Given the description of an element on the screen output the (x, y) to click on. 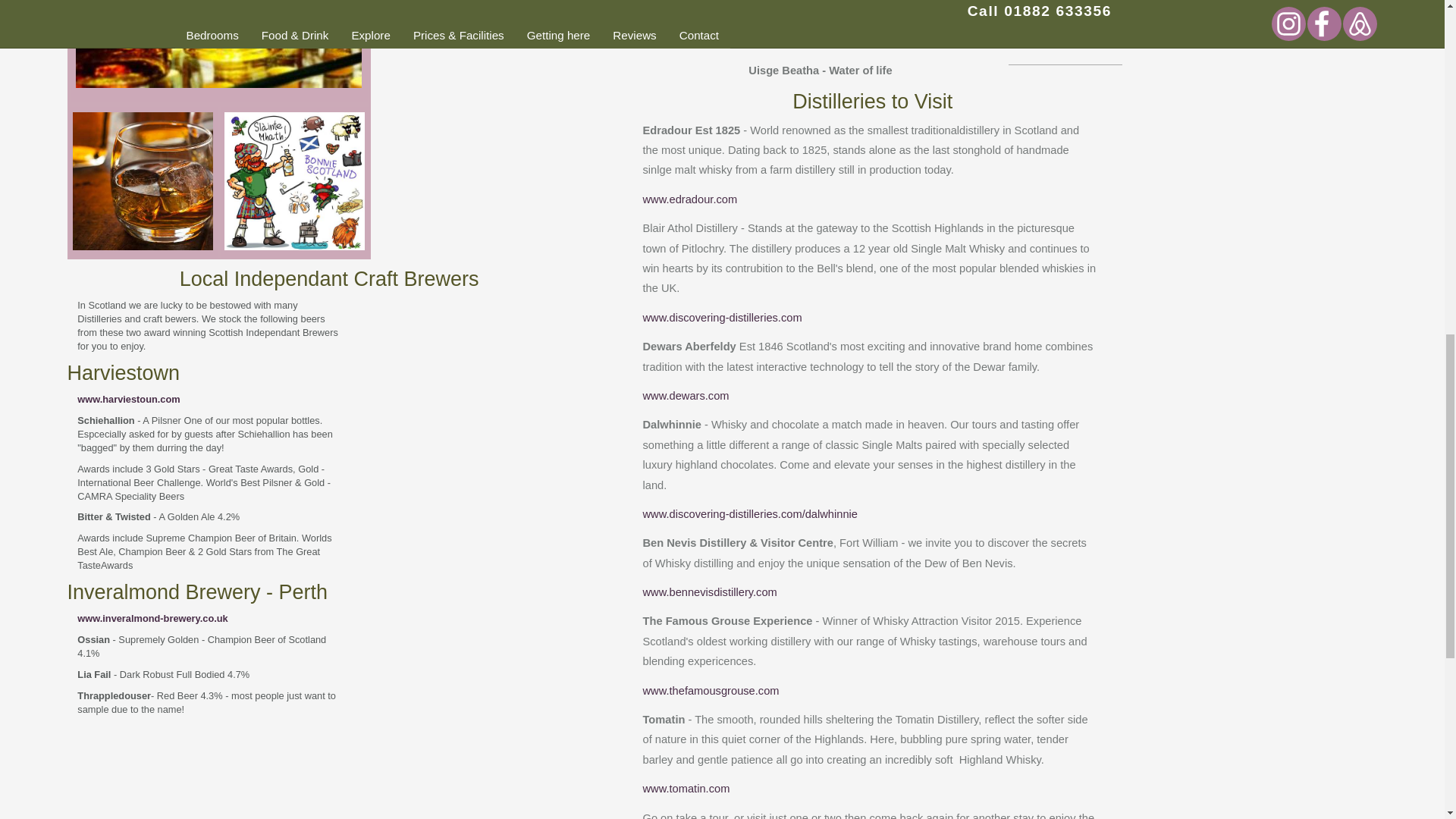
www.discovering-distilleries.com (722, 317)
.com (724, 199)
www.dewars.com (686, 395)
edradour (691, 199)
www.harviestoun.com (128, 398)
www. (656, 199)
Tweet (1031, 3)
www.inveralmond-brewery.co.uk (152, 618)
